Given the description of an element on the screen output the (x, y) to click on. 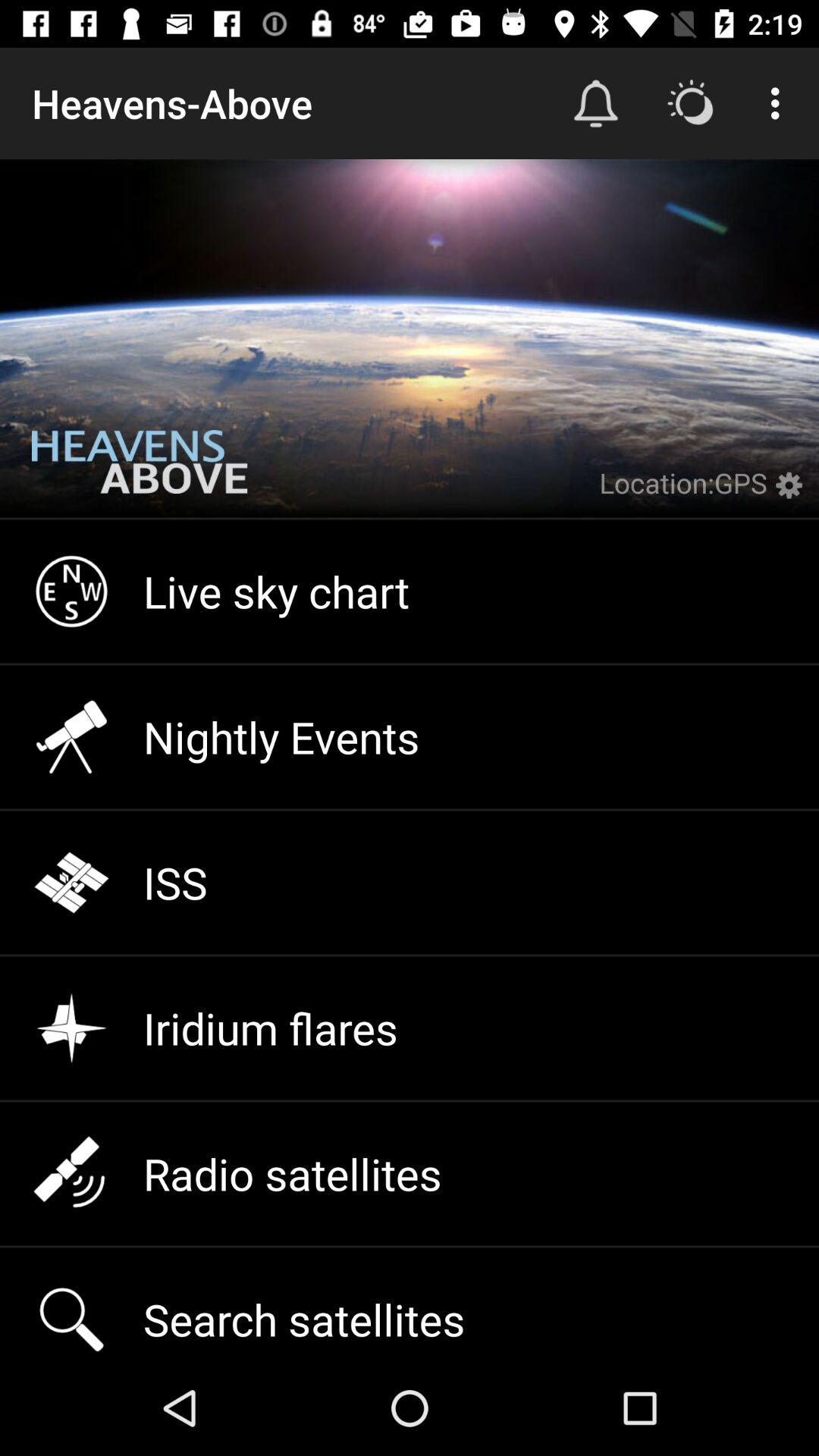
choose the item to the right of the heavens-above app (595, 103)
